Given the description of an element on the screen output the (x, y) to click on. 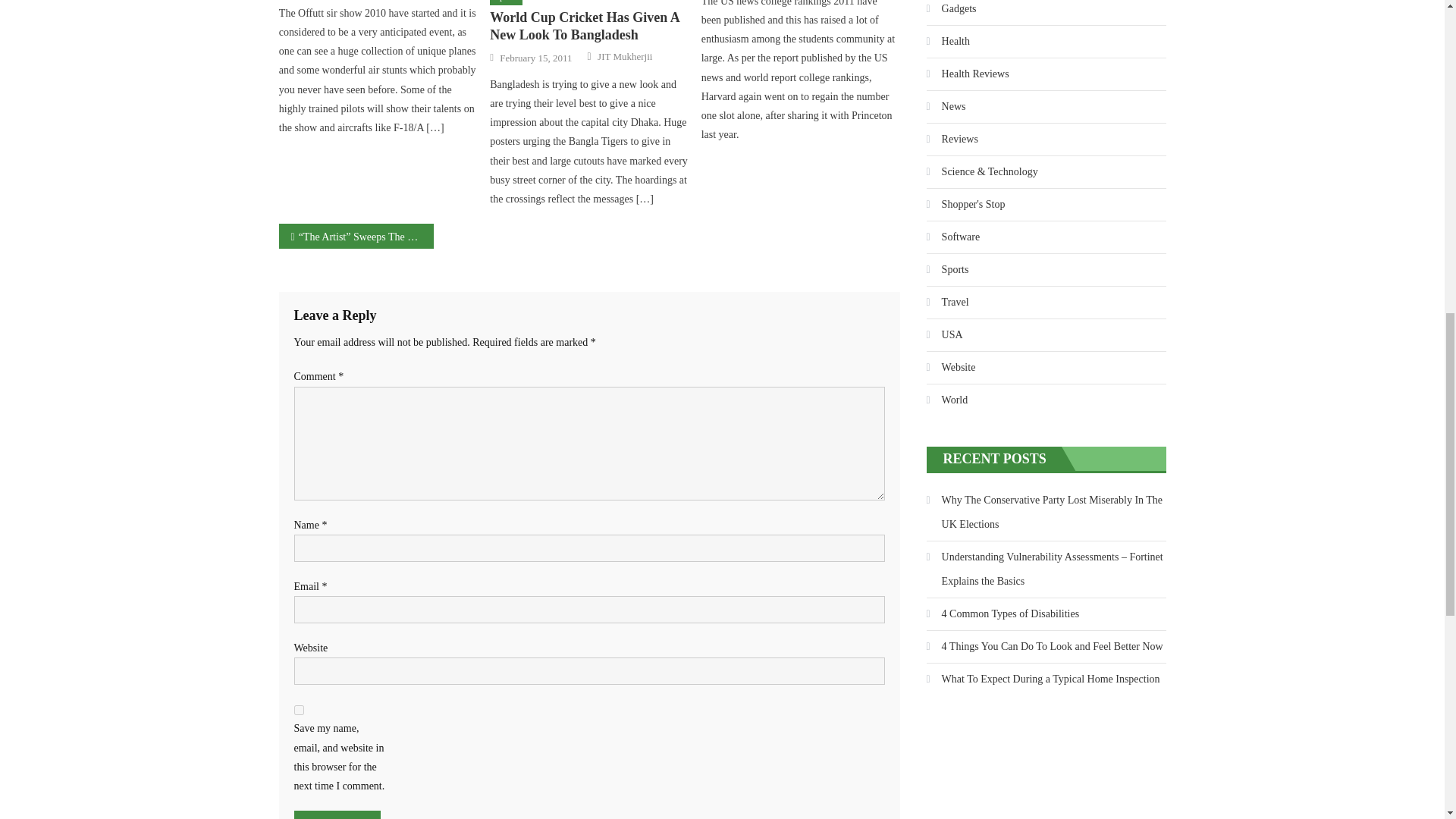
February 15, 2011 (535, 58)
Sports (505, 2)
World Cup Cricket Has Given A New Look To Bangladesh (588, 27)
JIT Mukherjii (624, 56)
Post Comment (337, 814)
yes (299, 709)
